Given the description of an element on the screen output the (x, y) to click on. 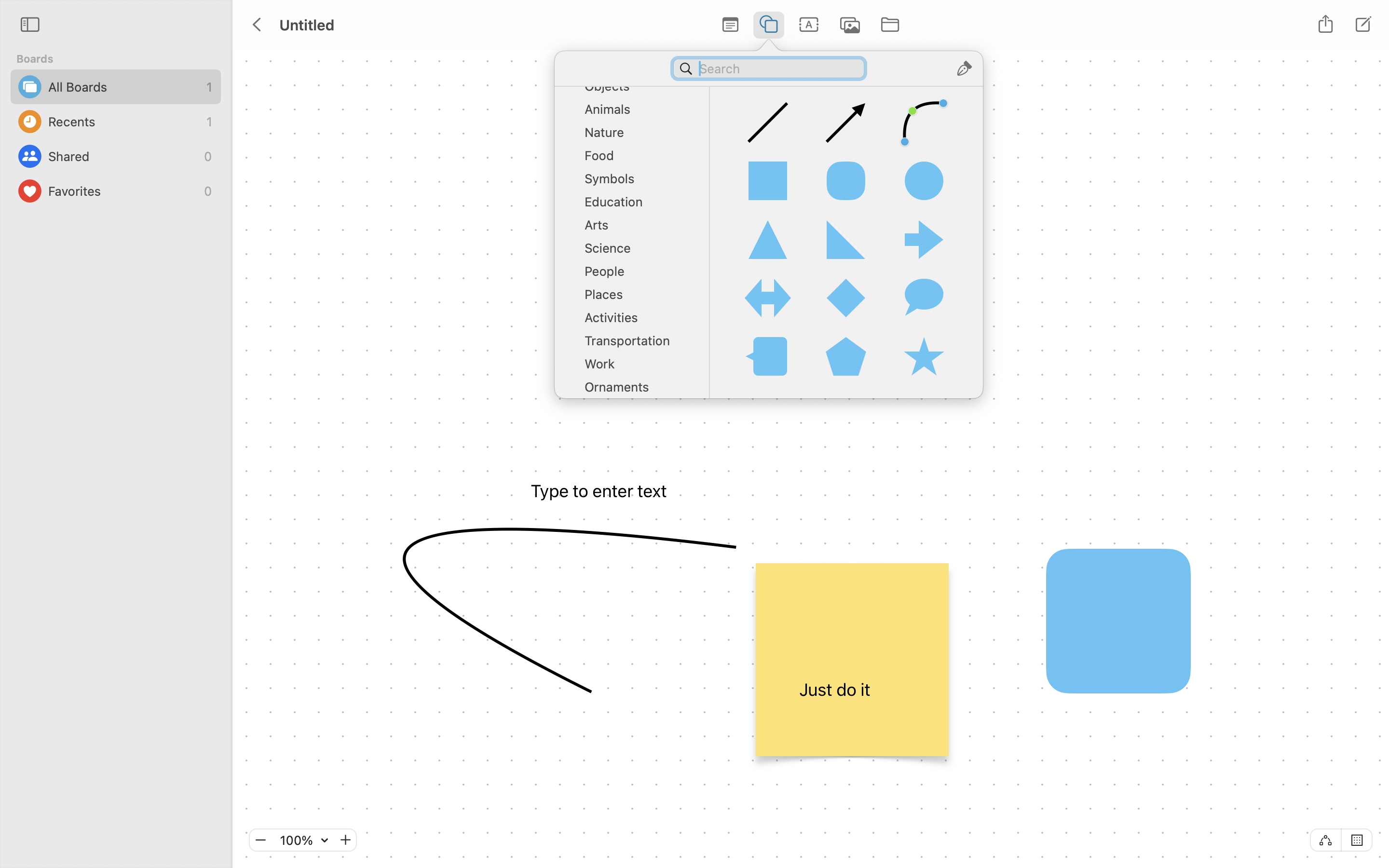
Work Element type: AXStaticText (636, 367)
